Given the description of an element on the screen output the (x, y) to click on. 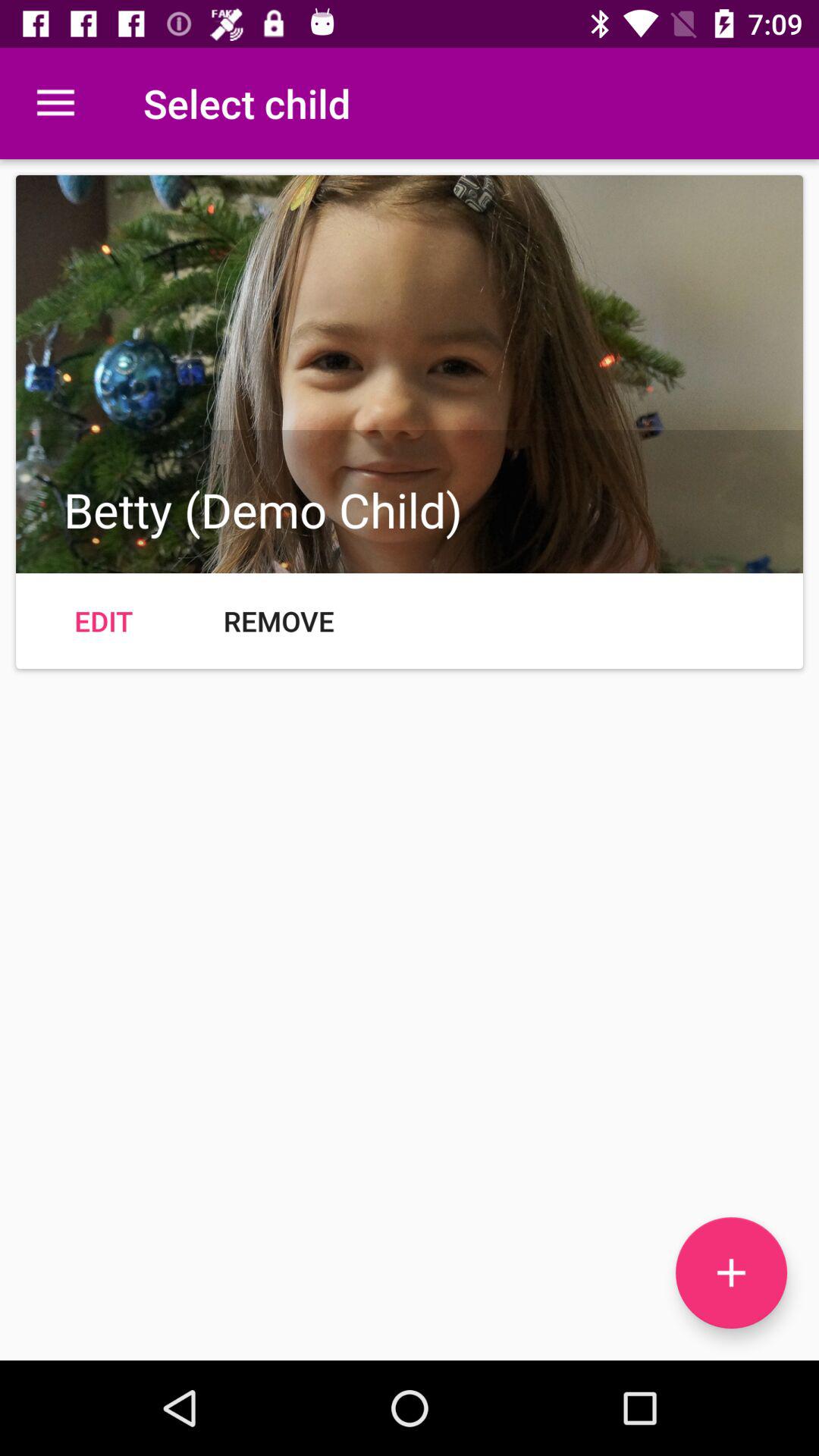
launch remove icon (278, 620)
